Given the description of an element on the screen output the (x, y) to click on. 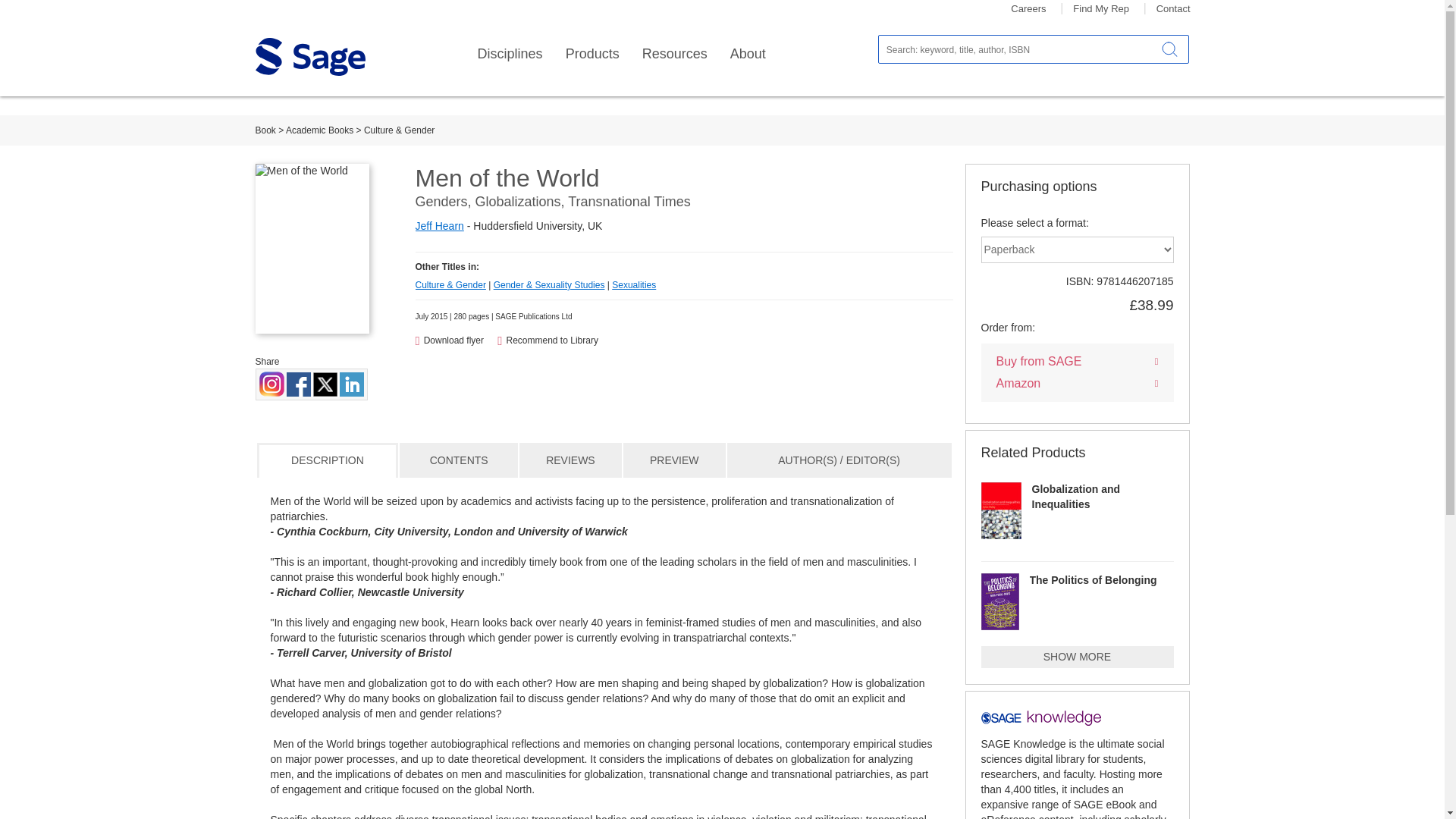
Disciplines (509, 53)
Careers (1027, 8)
Sage: Find my rep (1101, 8)
Sage logo: link back to homepage (309, 56)
Contact (1173, 8)
Find My Rep (1101, 8)
Search (1169, 48)
